Given the description of an element on the screen output the (x, y) to click on. 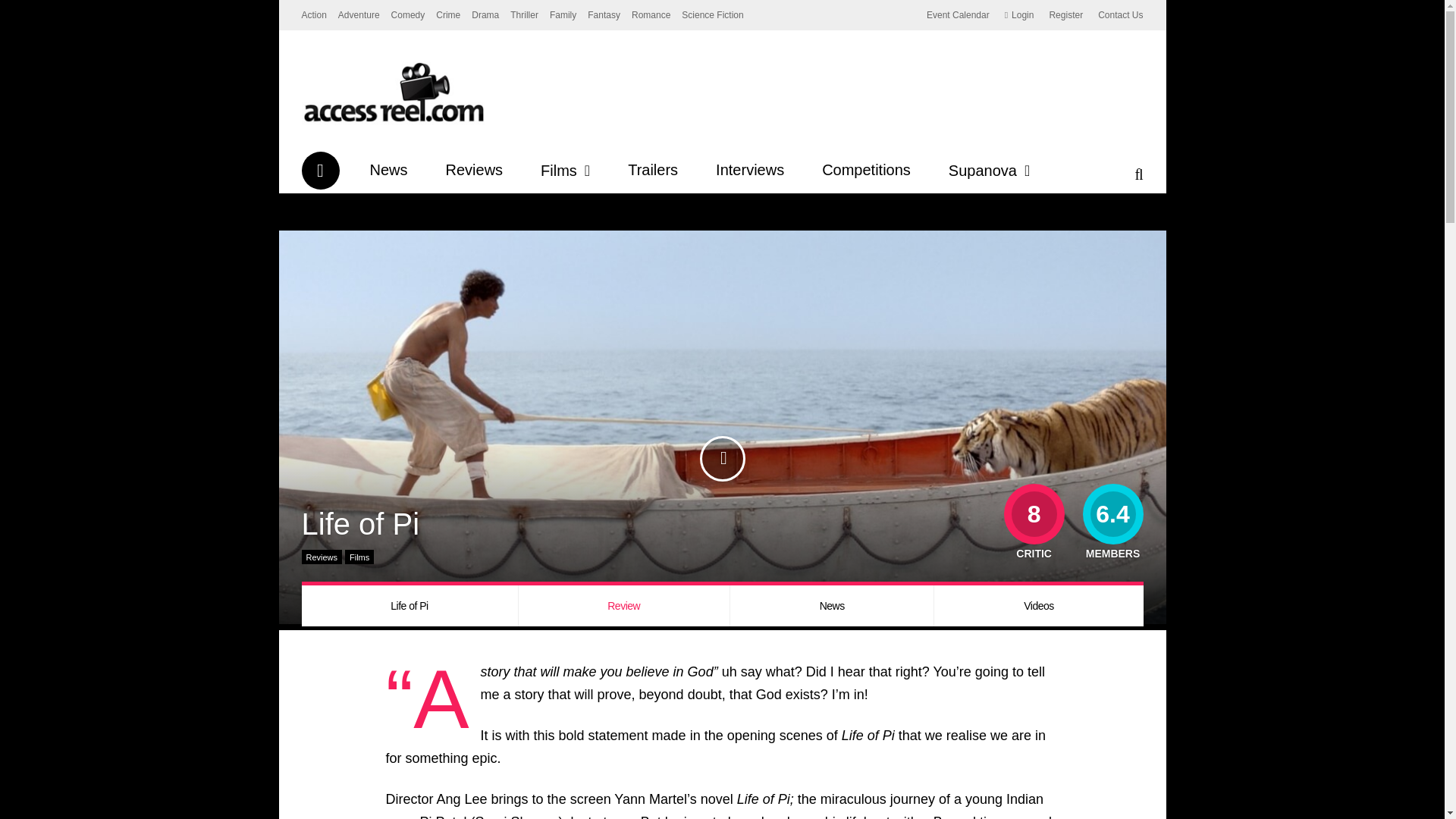
Science Fiction (711, 15)
Drama (485, 15)
Romance (650, 15)
Event Calendar (958, 15)
Comedy (408, 15)
Adventure (358, 15)
Accessreel.com (392, 122)
Fantasy (604, 15)
Thriller (524, 15)
